Given the description of an element on the screen output the (x, y) to click on. 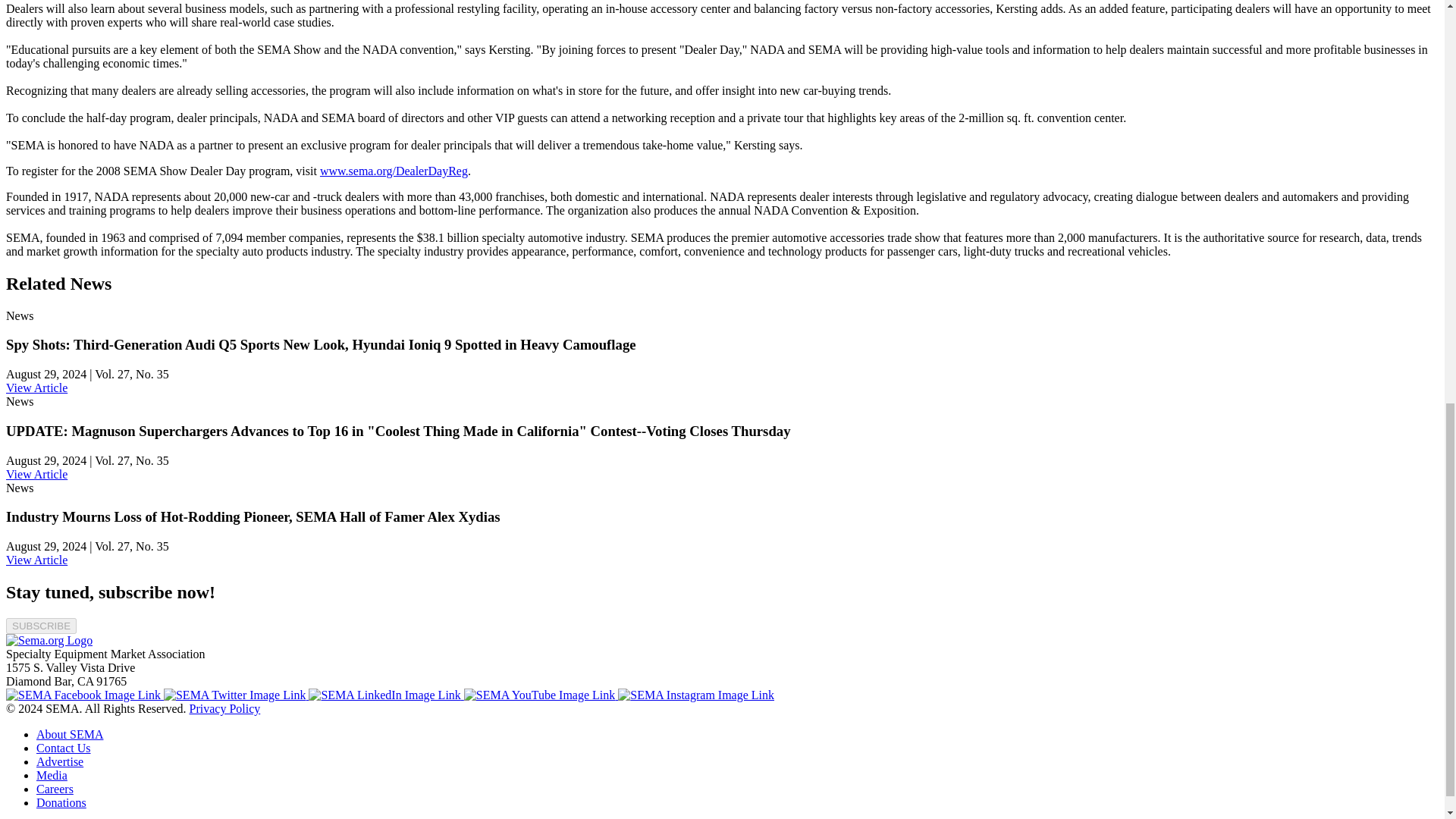
SUBSCRIBE (41, 625)
Privacy Policy (224, 707)
SEMA Facebook Link (84, 694)
SEMA Instagram Link (695, 694)
SEMA LinkedIn Link (385, 694)
View Article (35, 559)
View Article (35, 387)
SEMA Twitter Link (235, 694)
